Given the description of an element on the screen output the (x, y) to click on. 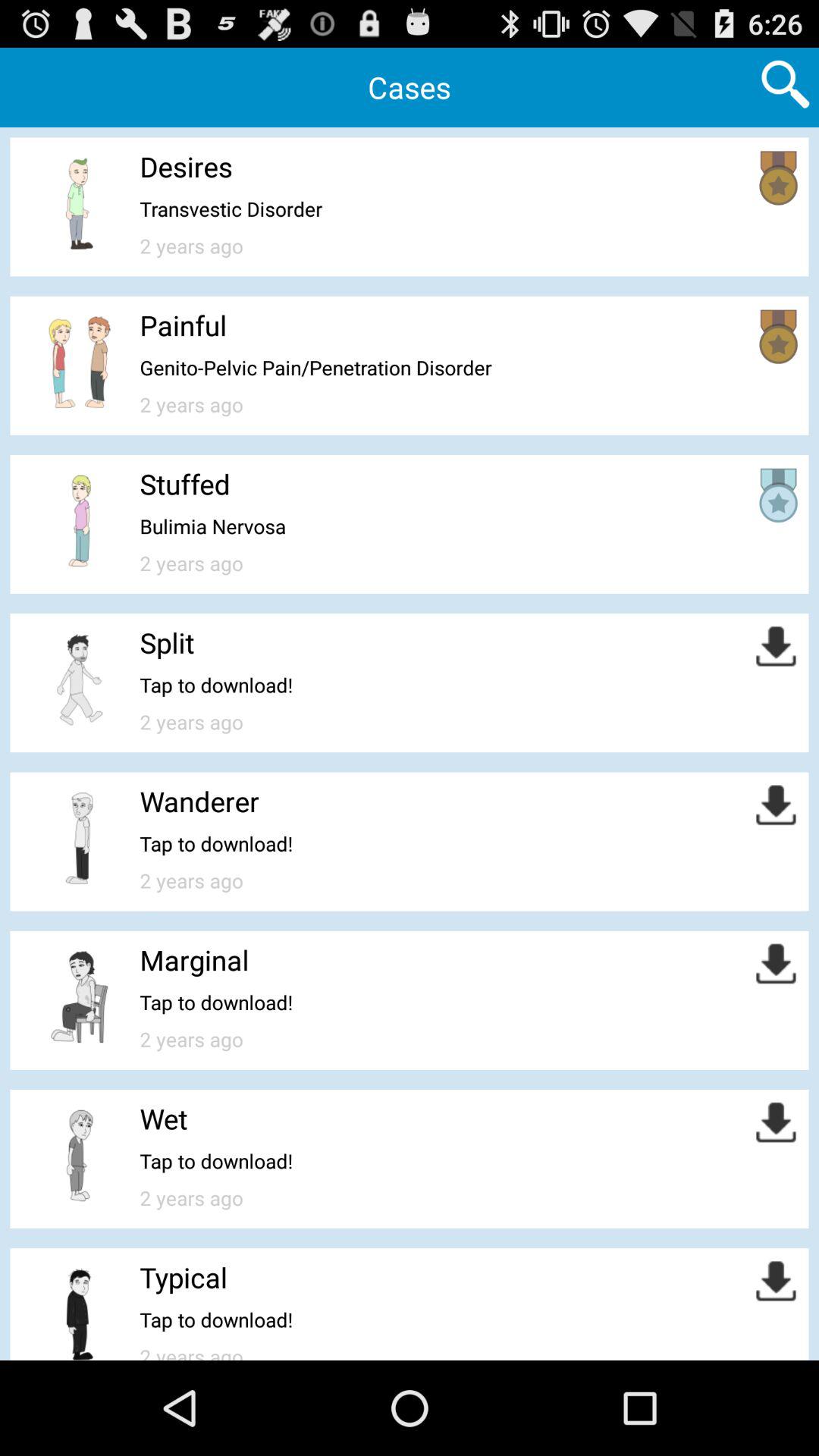
launch item below the cases item (185, 166)
